Given the description of an element on the screen output the (x, y) to click on. 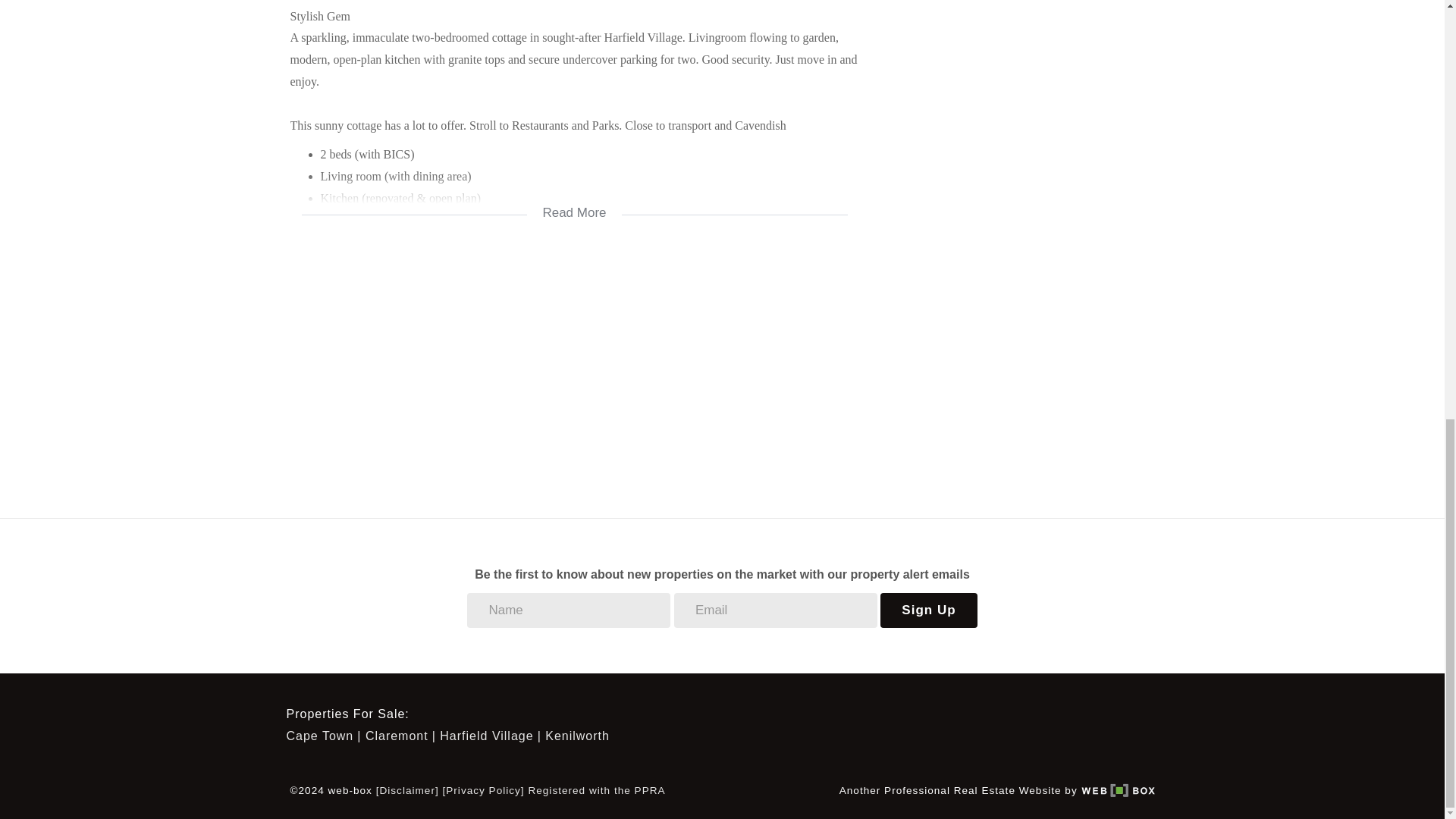
Properties for sale in Harfield Village, Cape Town (489, 735)
Read More (574, 202)
Properties for sale in Cape Town (323, 735)
google map (574, 365)
Properties for sale in Claremont, Cape Town (400, 735)
Properties for sale in Kenilworth, Cape Town (577, 735)
webbox-logo (1117, 789)
